Given the description of an element on the screen output the (x, y) to click on. 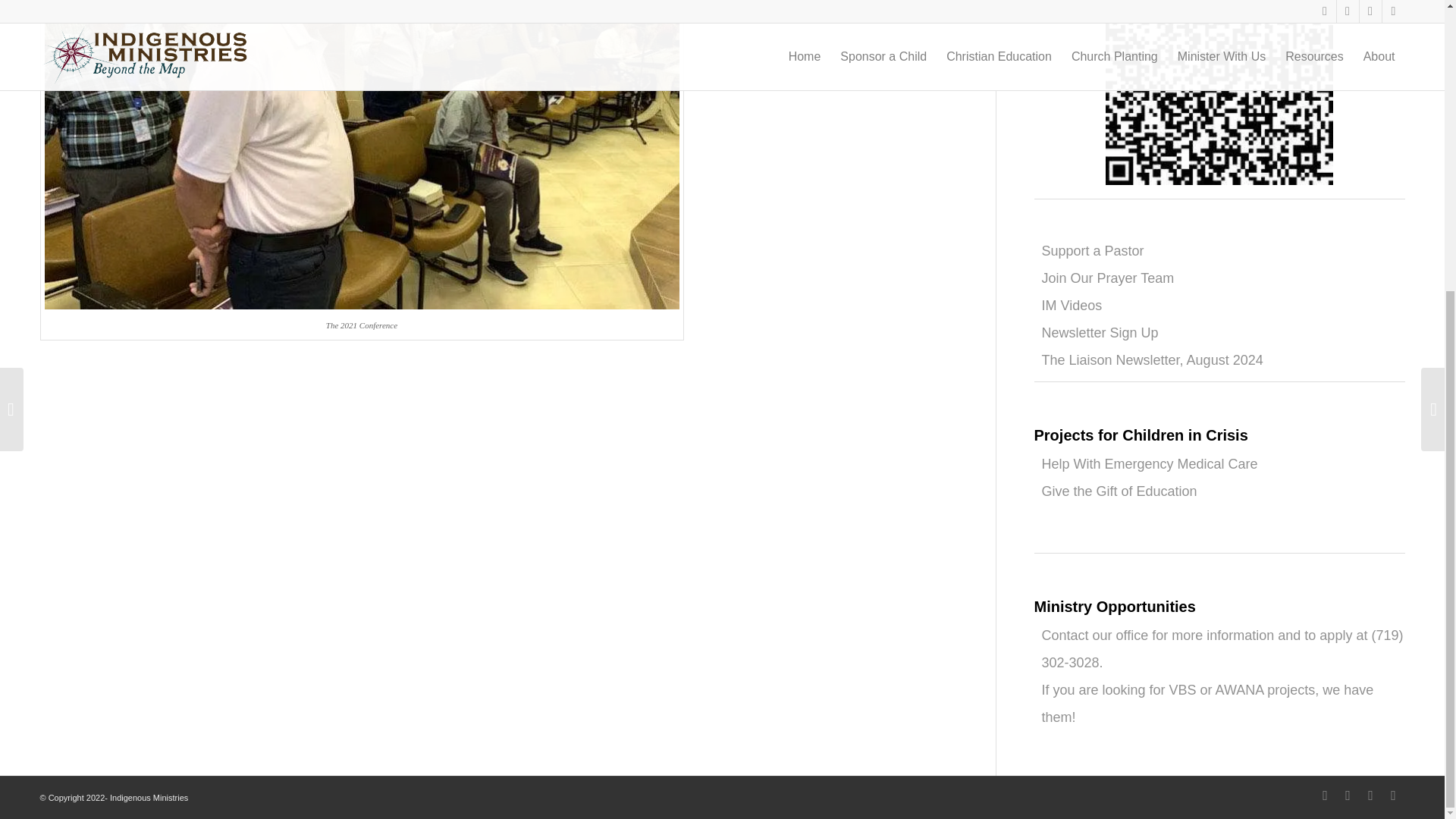
Join Our Prayer Team (1108, 278)
Give the Gift of Education (1119, 491)
The Liaison Newsletter, August 2024 (1152, 359)
Newsletter Sign Up (1100, 332)
Help With Emergency Medical Care (1149, 463)
Support a Pastor (1093, 250)
IM Videos (1072, 305)
